Given the description of an element on the screen output the (x, y) to click on. 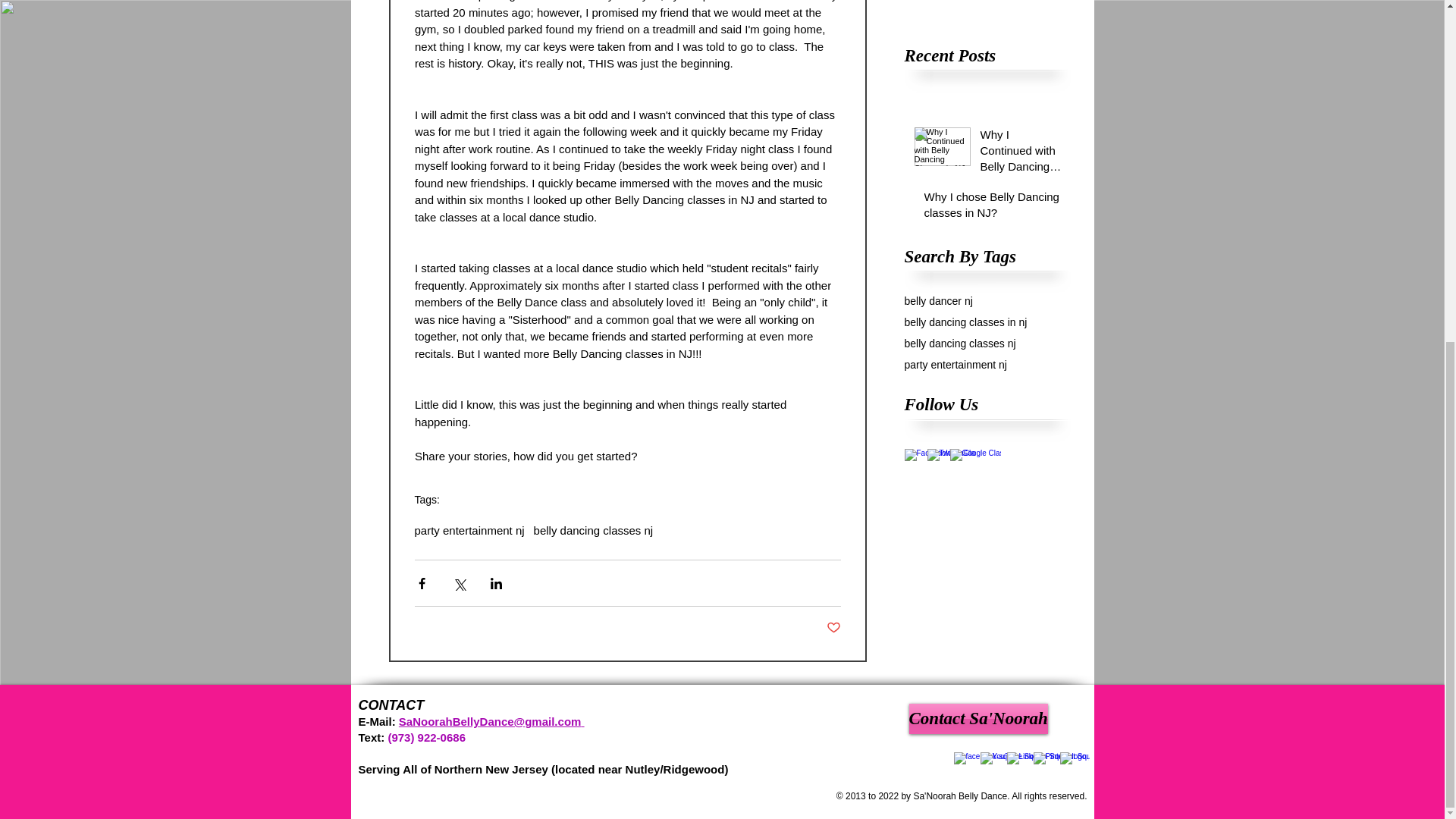
Why I chose Belly Dancing classes in NJ? (992, 207)
belly dancer nj (938, 300)
Why I Continued with Belly Dancing Classes in NJ (987, 9)
Why I Continued with Belly Dancing Classes in NJ (987, 9)
party entertainment nj (468, 530)
party entertainment nj (955, 364)
belly dancing classes nj (593, 530)
belly dancing classes nj (959, 343)
Why I Continued with Belly Dancing Classes in NJ (1020, 153)
Post not marked as liked (834, 627)
Contact Sa'Noorah (977, 718)
E-Mail: (376, 721)
belly dancing classes in nj (965, 322)
